Given the description of an element on the screen output the (x, y) to click on. 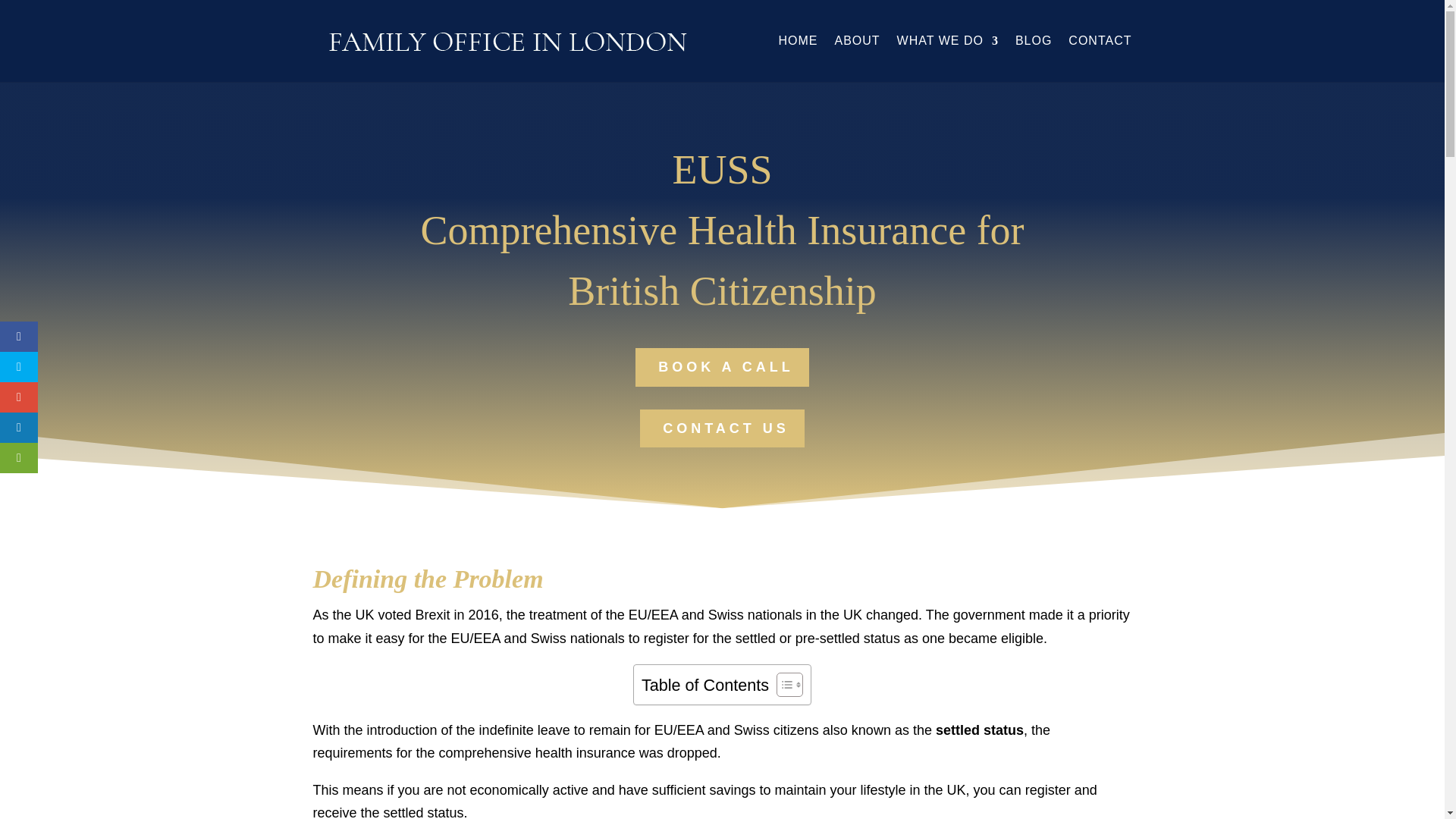
CONTACT US (722, 428)
WHAT WE DO (947, 58)
BOOK A CALL (721, 367)
CONTACT (1099, 58)
ABOUT (856, 58)
